Given the description of an element on the screen output the (x, y) to click on. 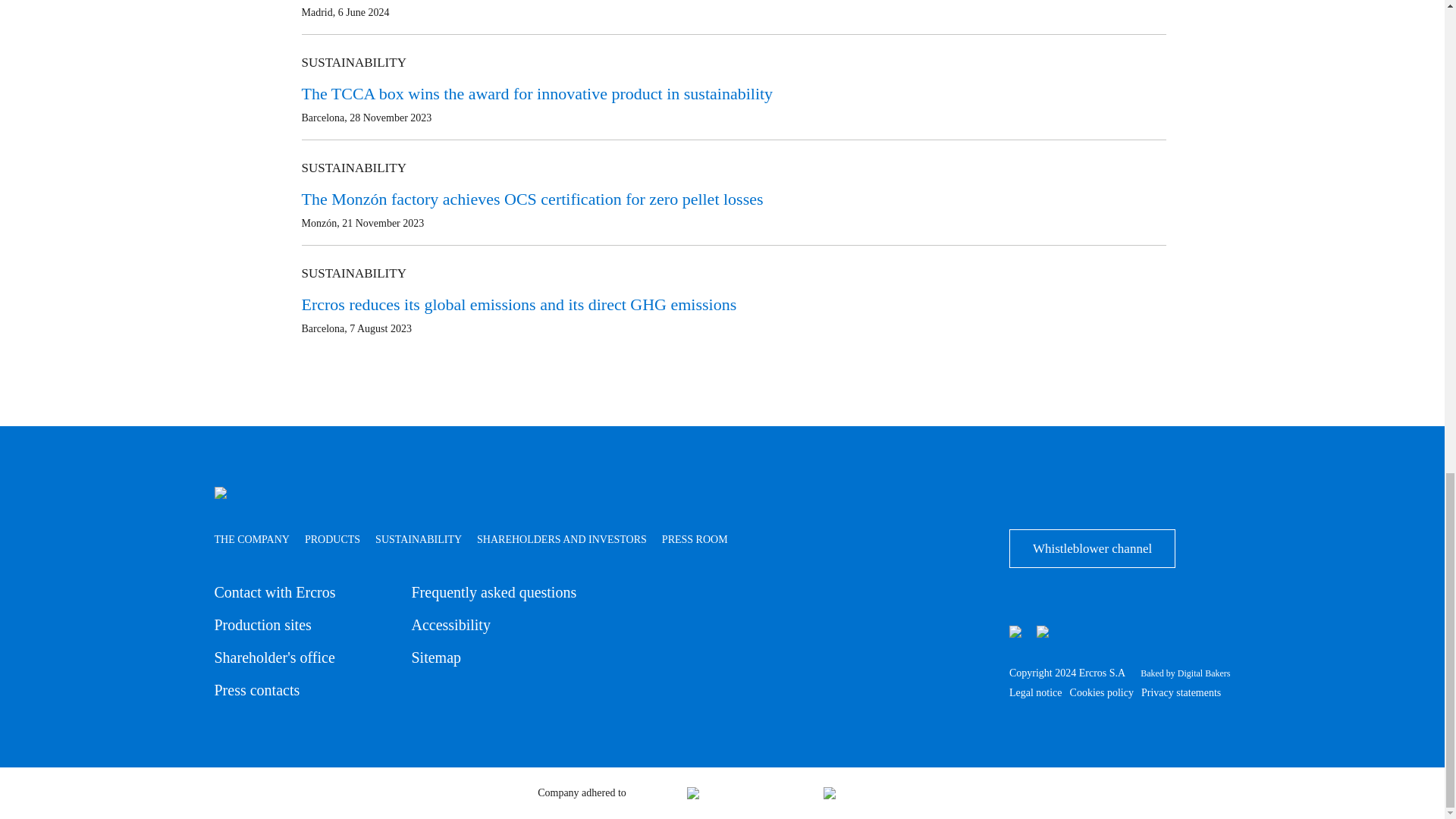
Tuesday, November 28, 2023 - 21:34 (389, 117)
Tuesday, November 21, 2023 - 21:34 (382, 223)
Monday, August 7, 2023 - 21:34 (380, 328)
Thursday, June 6, 2024 - 18:00 (363, 12)
